Given the description of an element on the screen output the (x, y) to click on. 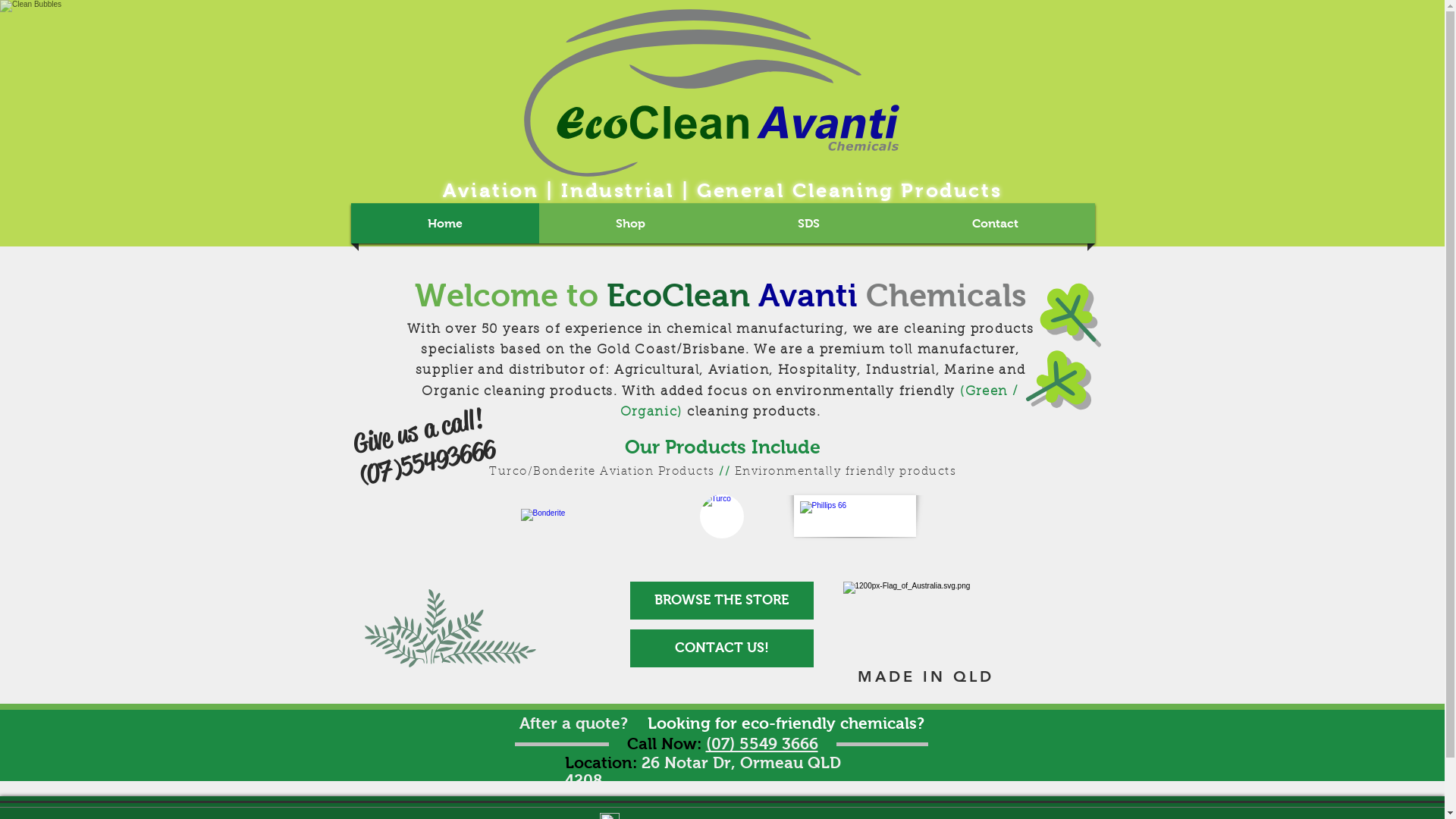
SDS Element type: text (807, 223)
Contact Element type: text (994, 223)
CONTACT US! Element type: text (720, 648)
BROWSE THE STORE Element type: text (720, 600)
Shop Element type: text (630, 223)
Home Element type: text (444, 223)
